Given the description of an element on the screen output the (x, y) to click on. 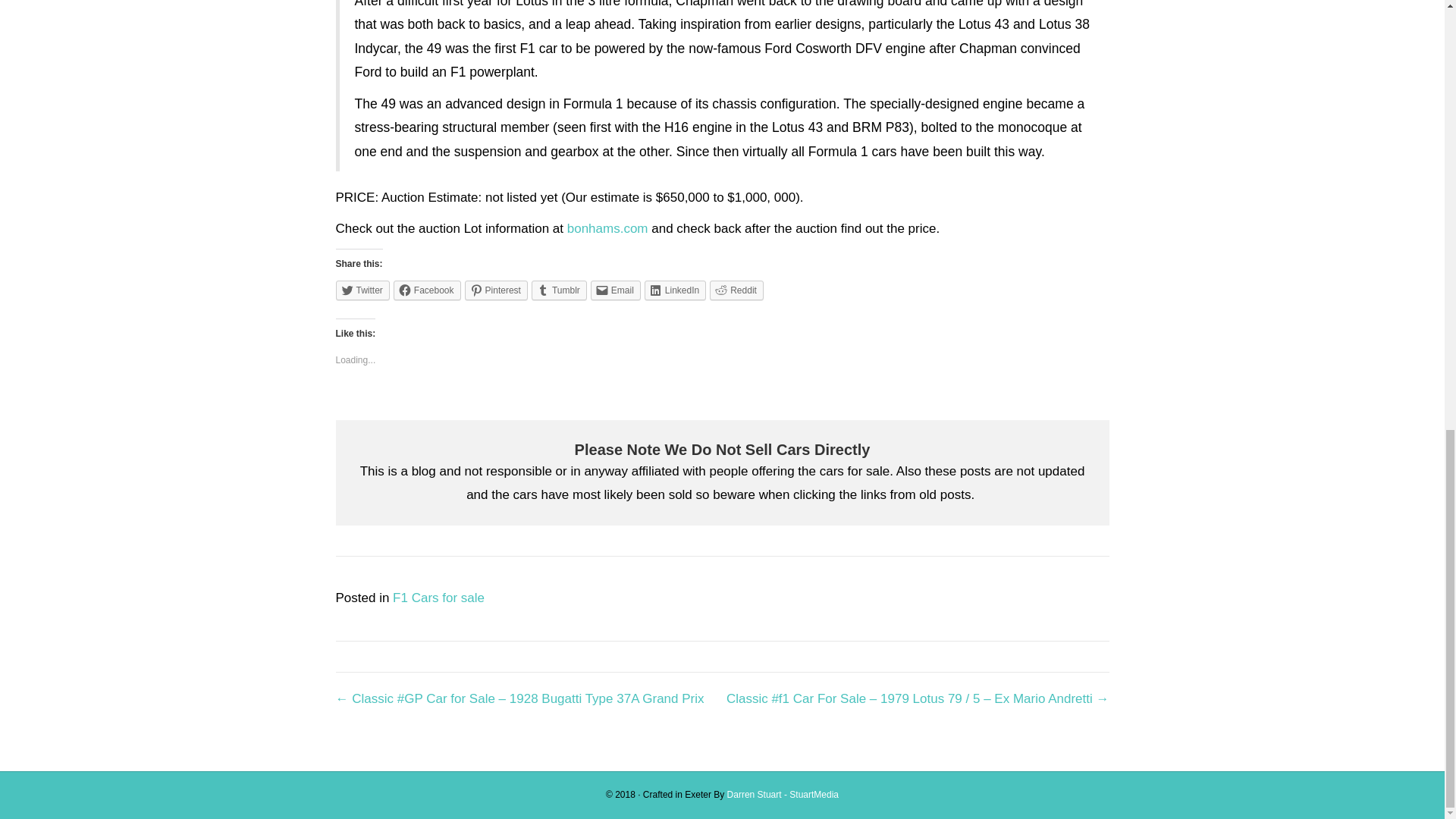
bonhams.com (607, 228)
Click to share on Facebook (427, 290)
Click to share on Pinterest (495, 290)
A Freelance Developer based in Exeter Devon (782, 794)
Tumblr (558, 290)
Facebook (427, 290)
Click to email a link to a friend (615, 290)
LinkedIn (675, 290)
Click to share on Tumblr (558, 290)
Reddit (736, 290)
Email (615, 290)
F1 Cars for sale (438, 597)
Click to share on Reddit (736, 290)
Click to share on LinkedIn (675, 290)
Goodwood Festival of Speed Auction (607, 228)
